Given the description of an element on the screen output the (x, y) to click on. 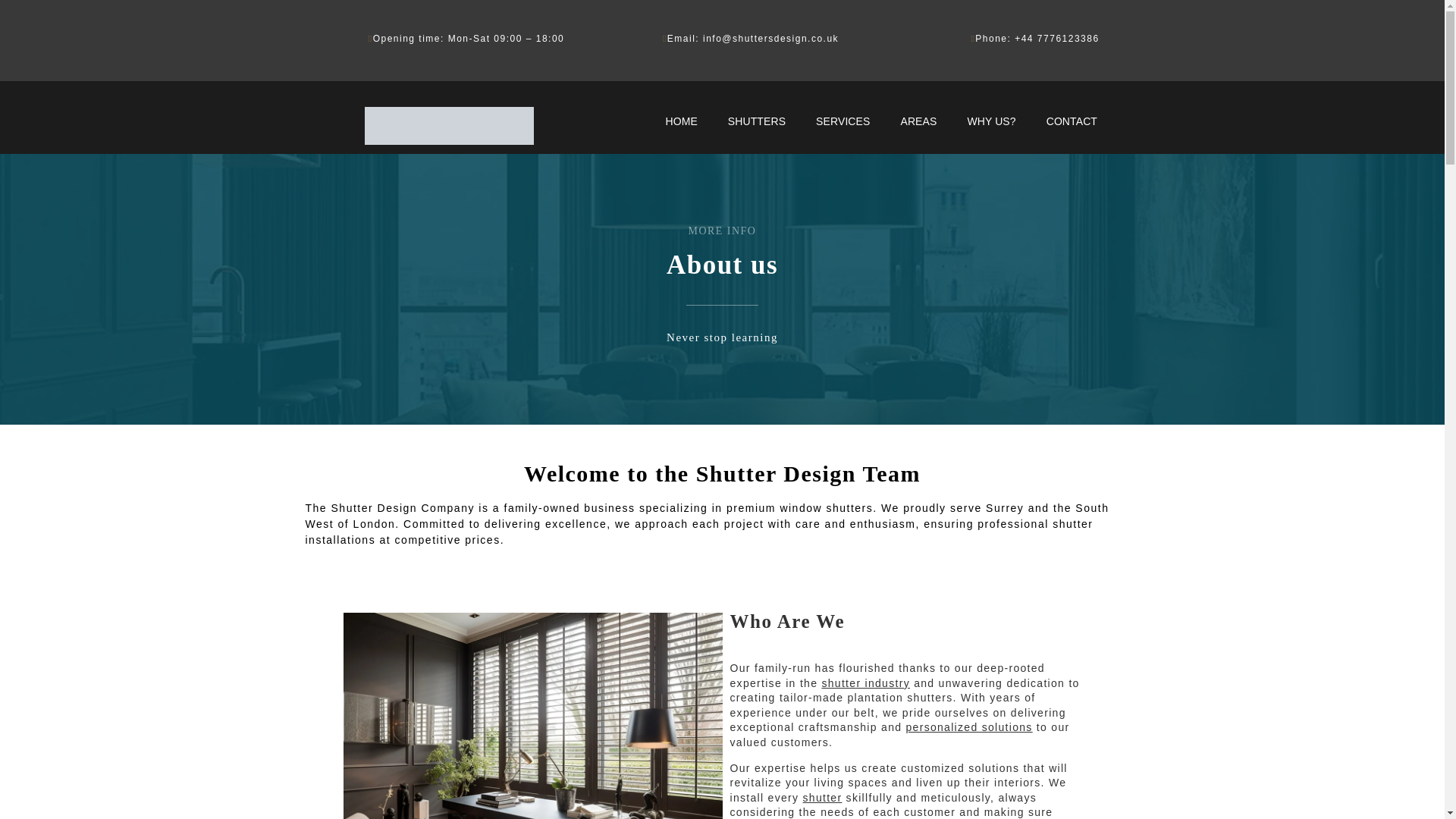
CONTACT (1071, 121)
SERVICES (842, 121)
HOME (680, 121)
WHY US? (991, 121)
AREAS (918, 121)
SHUTTERS (756, 121)
